Given the description of an element on the screen output the (x, y) to click on. 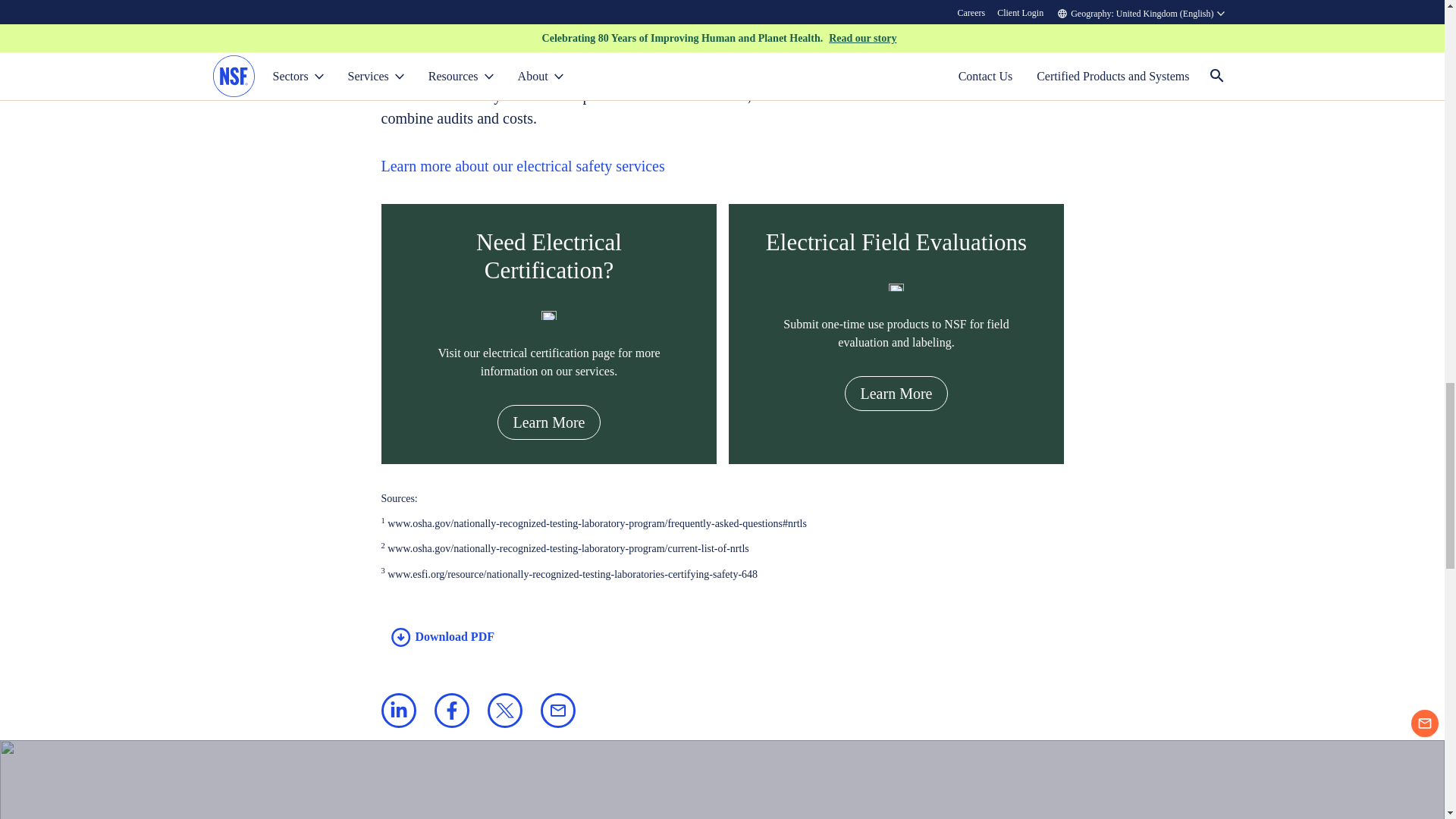
Share by Email (557, 710)
Learn More (547, 421)
Learn more about our electrical safety services (521, 166)
Download PDF (436, 637)
Share on Twitter (503, 710)
Learn More (895, 393)
Share on LinkedIn (397, 710)
Share on Facebook (450, 710)
